Given the description of an element on the screen output the (x, y) to click on. 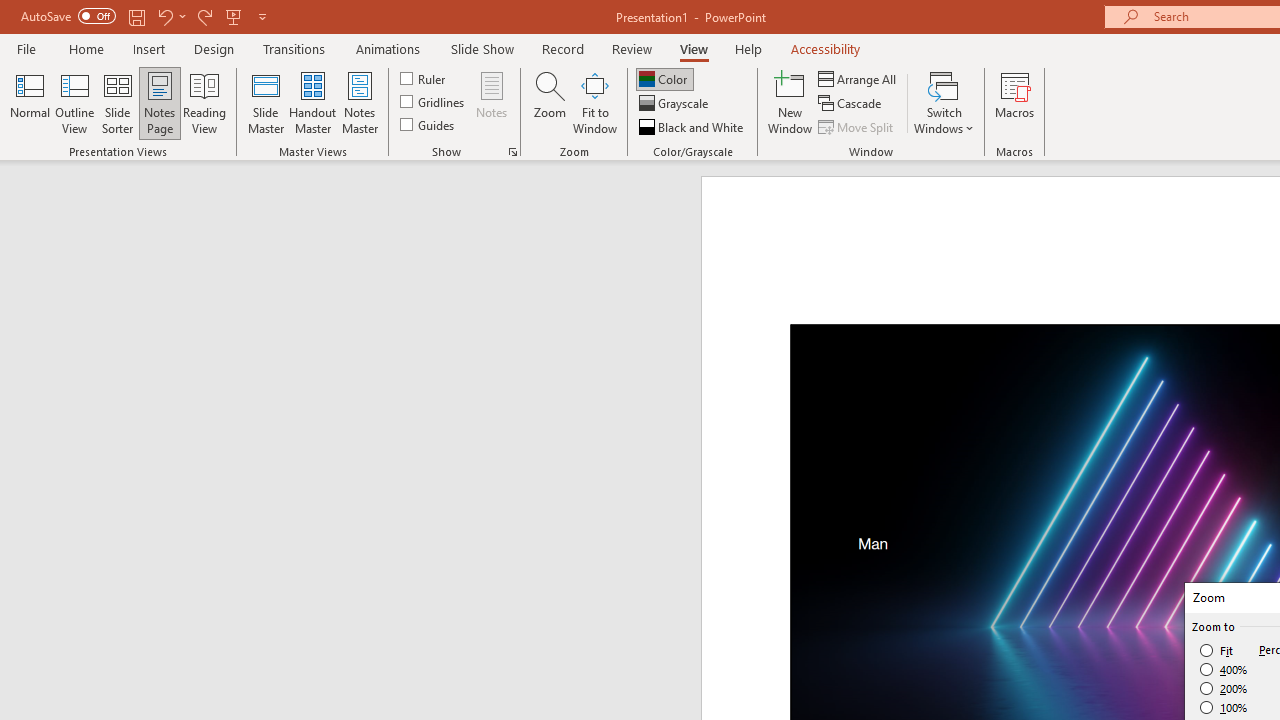
Cascade (851, 103)
100% (1224, 707)
Switch Windows (943, 102)
Arrange All (858, 78)
Guides (428, 124)
